Given the description of an element on the screen output the (x, y) to click on. 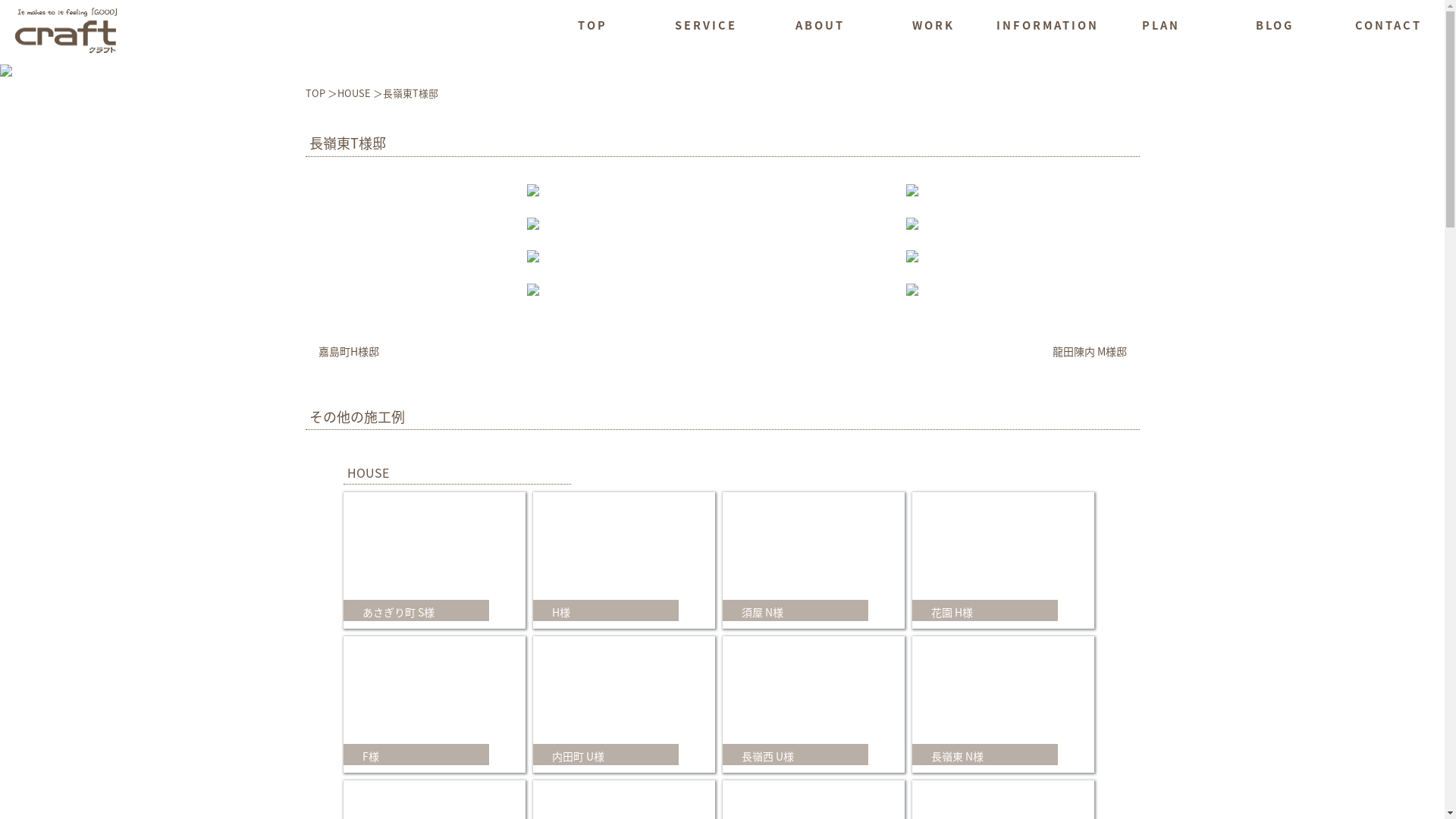
WORK Element type: text (932, 26)
CONTACT Element type: text (1387, 26)
INFORMATION Element type: text (1046, 26)
craft Element type: text (65, 30)
PLAN Element type: text (1159, 26)
TOP Element type: text (320, 92)
BLOG Element type: text (1273, 26)
SERVICE Element type: text (704, 26)
HOUSE Element type: text (359, 92)
TOP Element type: text (591, 26)
ABOUT Element type: text (818, 26)
